Given the description of an element on the screen output the (x, y) to click on. 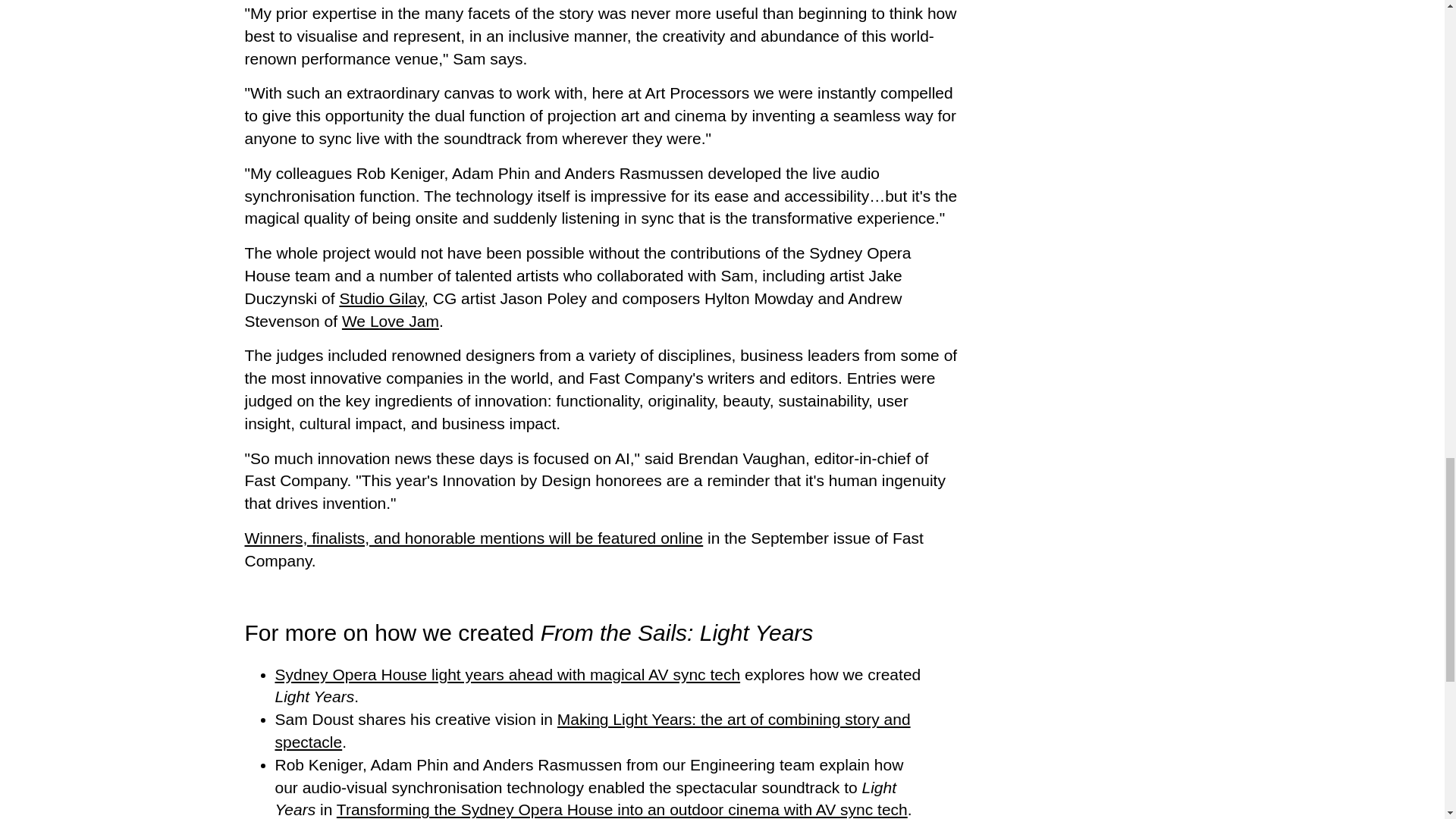
Studio Gilay (381, 298)
We Love Jam (390, 321)
Making Light Years: the art of combining story and spectacle (592, 730)
